Given the description of an element on the screen output the (x, y) to click on. 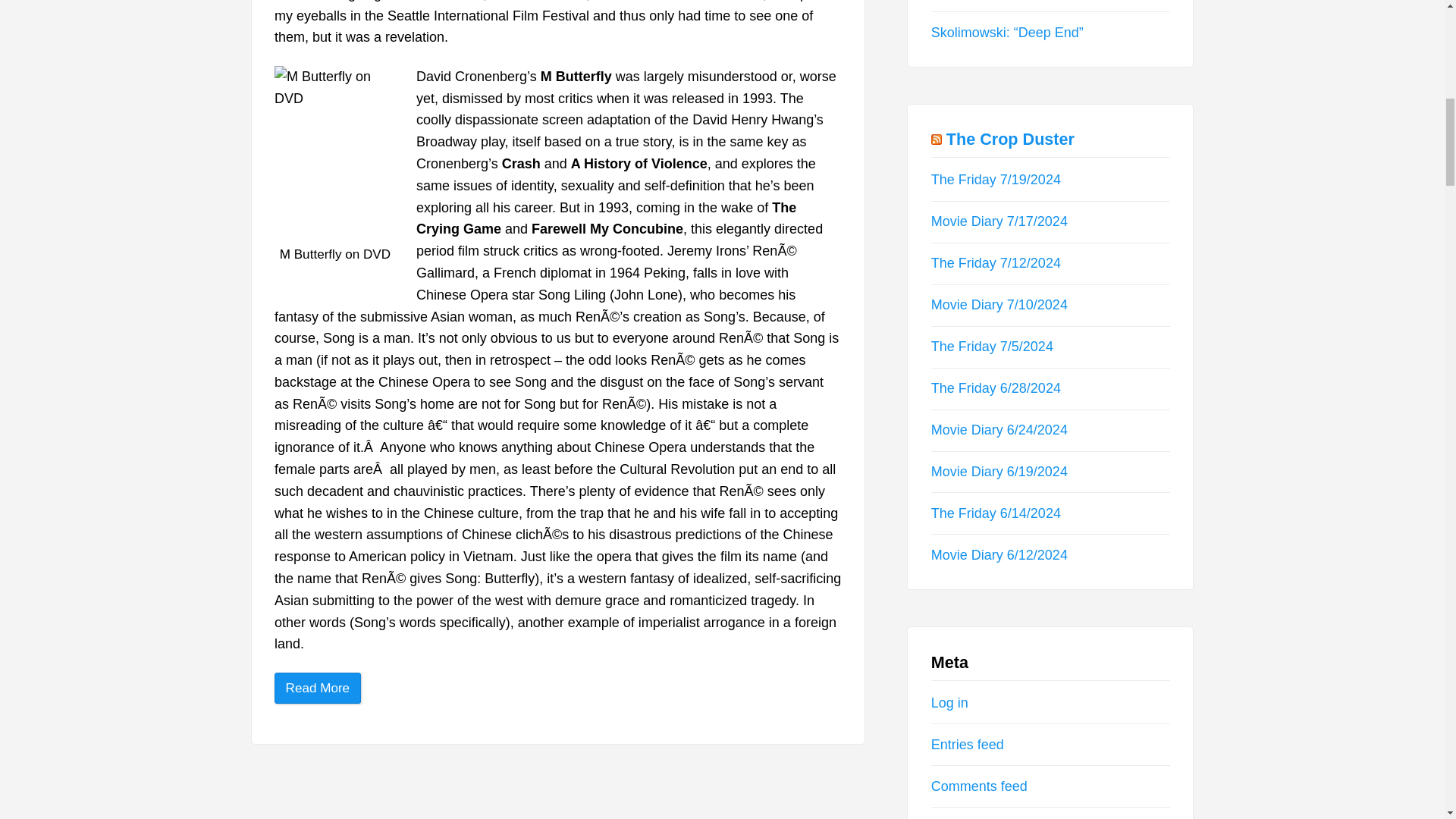
The Crop Duster (1010, 138)
